Given the description of an element on the screen output the (x, y) to click on. 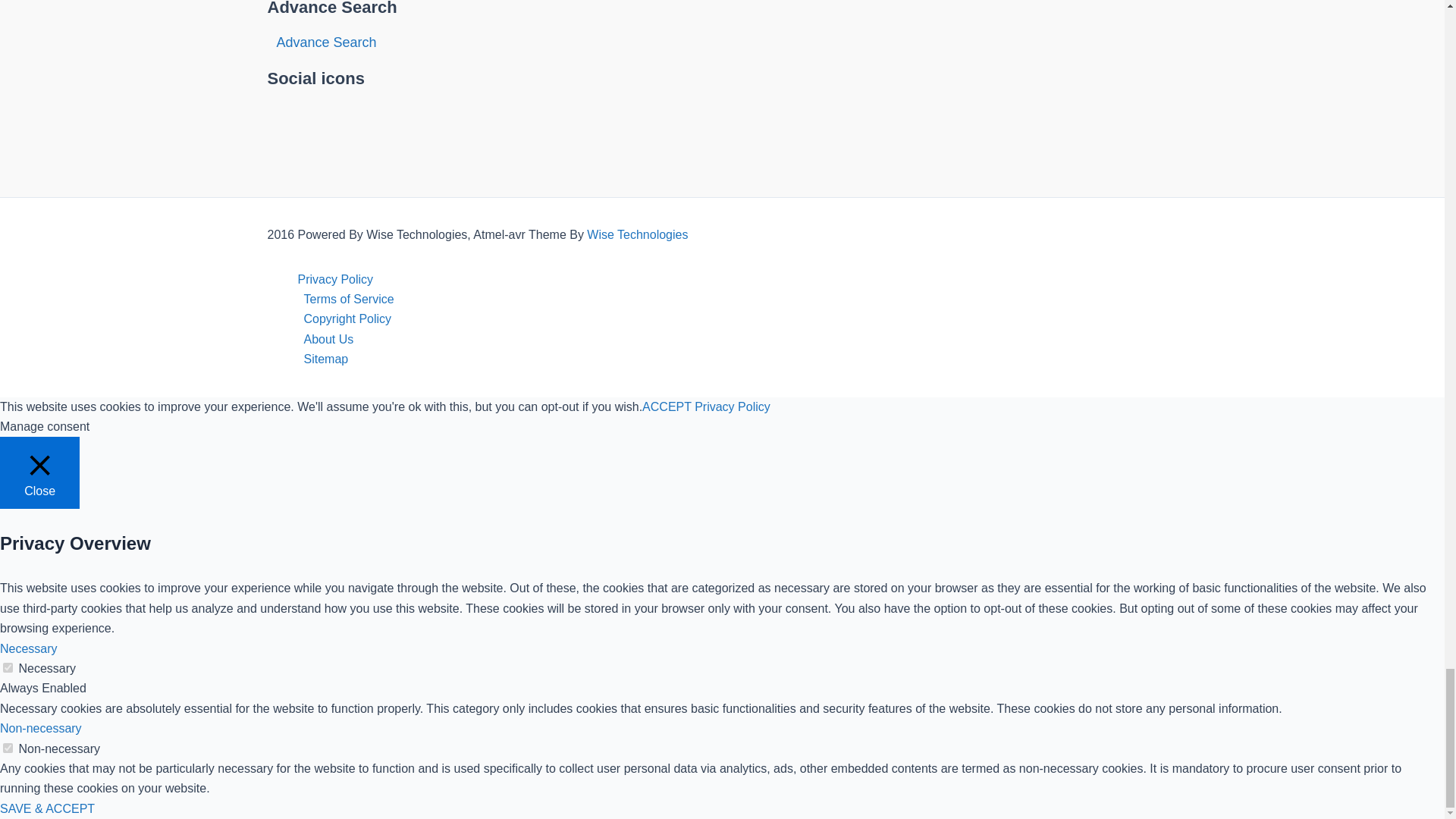
on (7, 747)
on (7, 667)
